Given the description of an element on the screen output the (x, y) to click on. 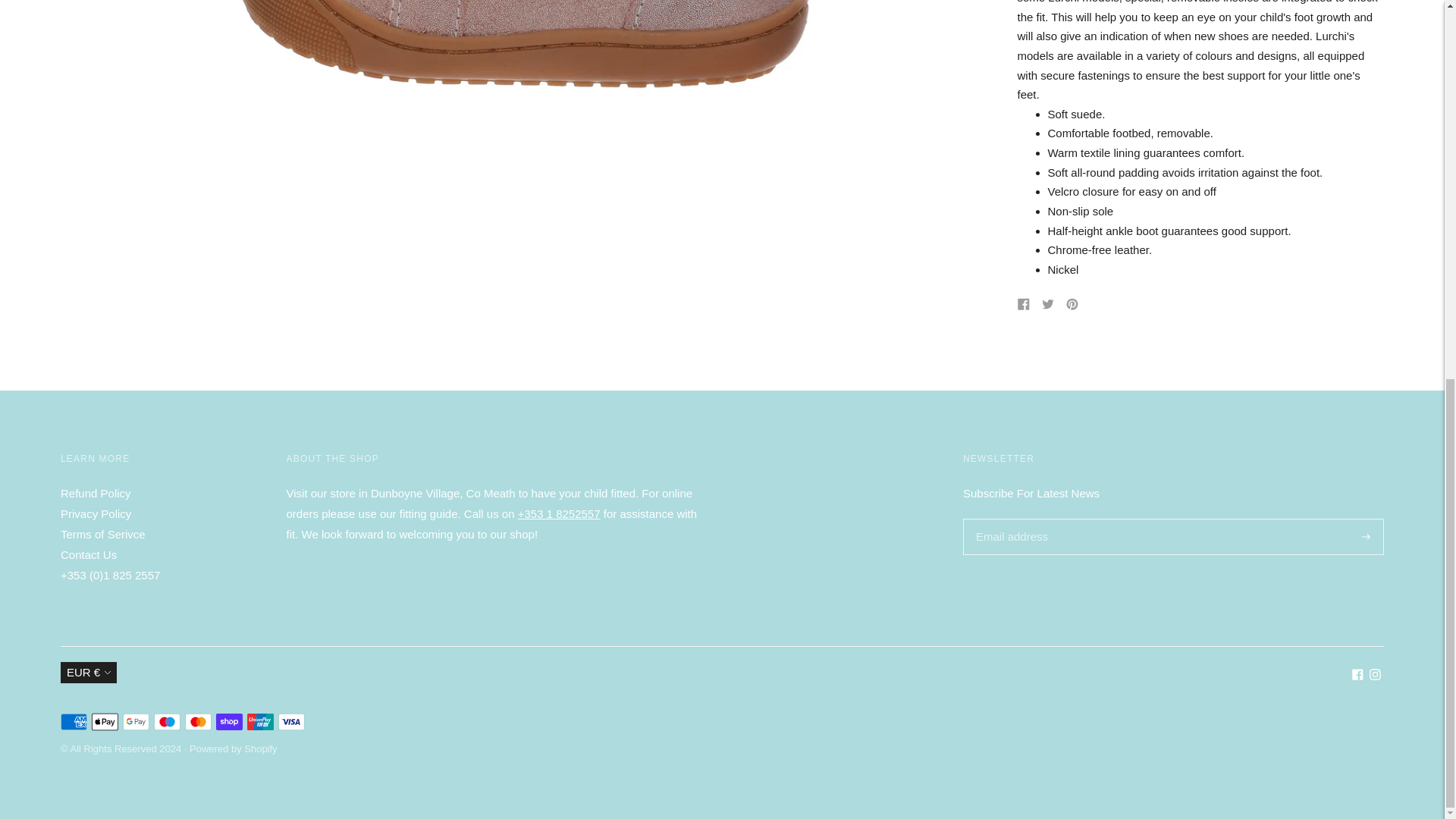
tel:35318252557 (558, 513)
